Given the description of an element on the screen output the (x, y) to click on. 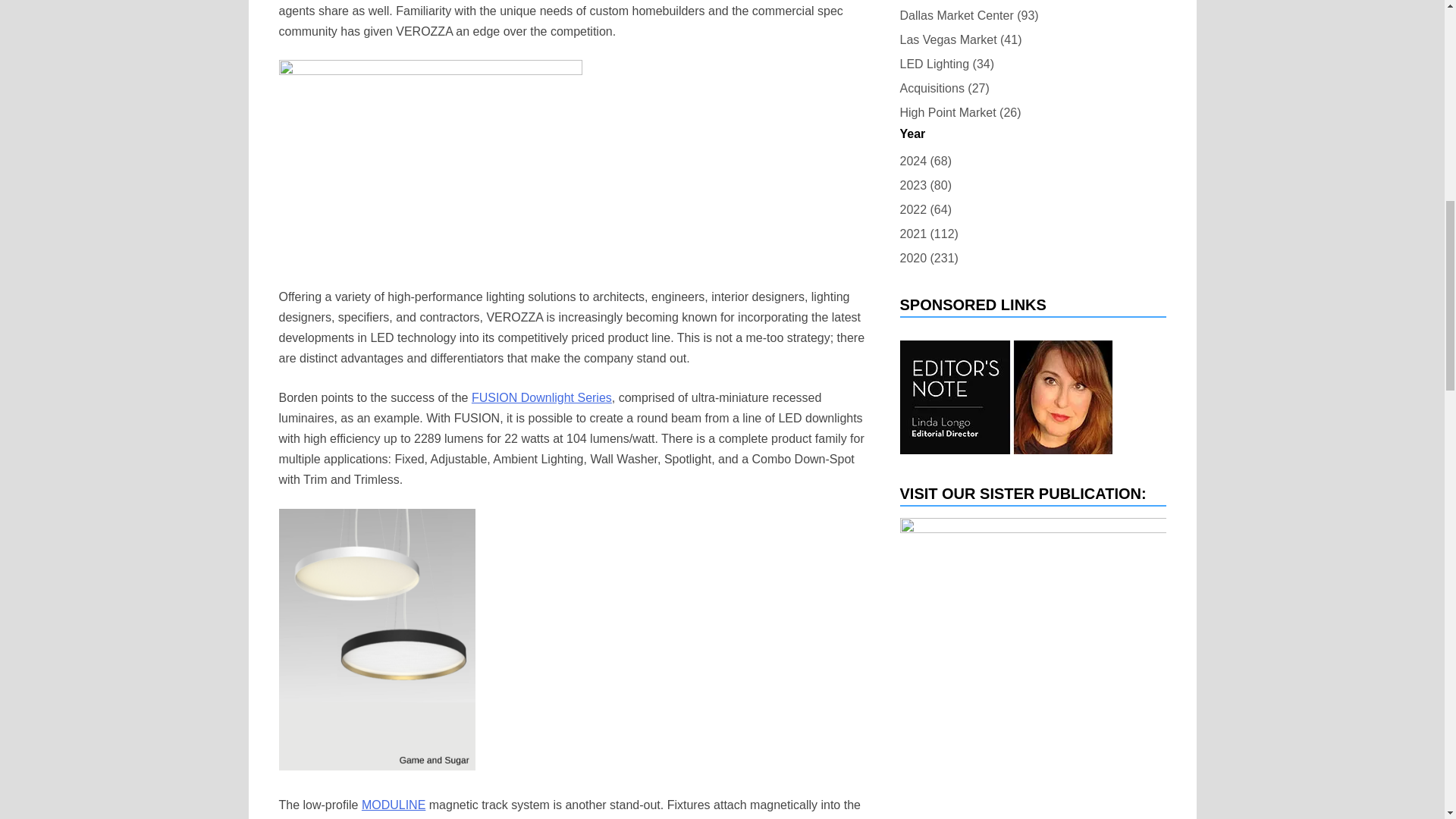
FUSION Downlight Series (541, 397)
MODULINE (393, 804)
